Given the description of an element on the screen output the (x, y) to click on. 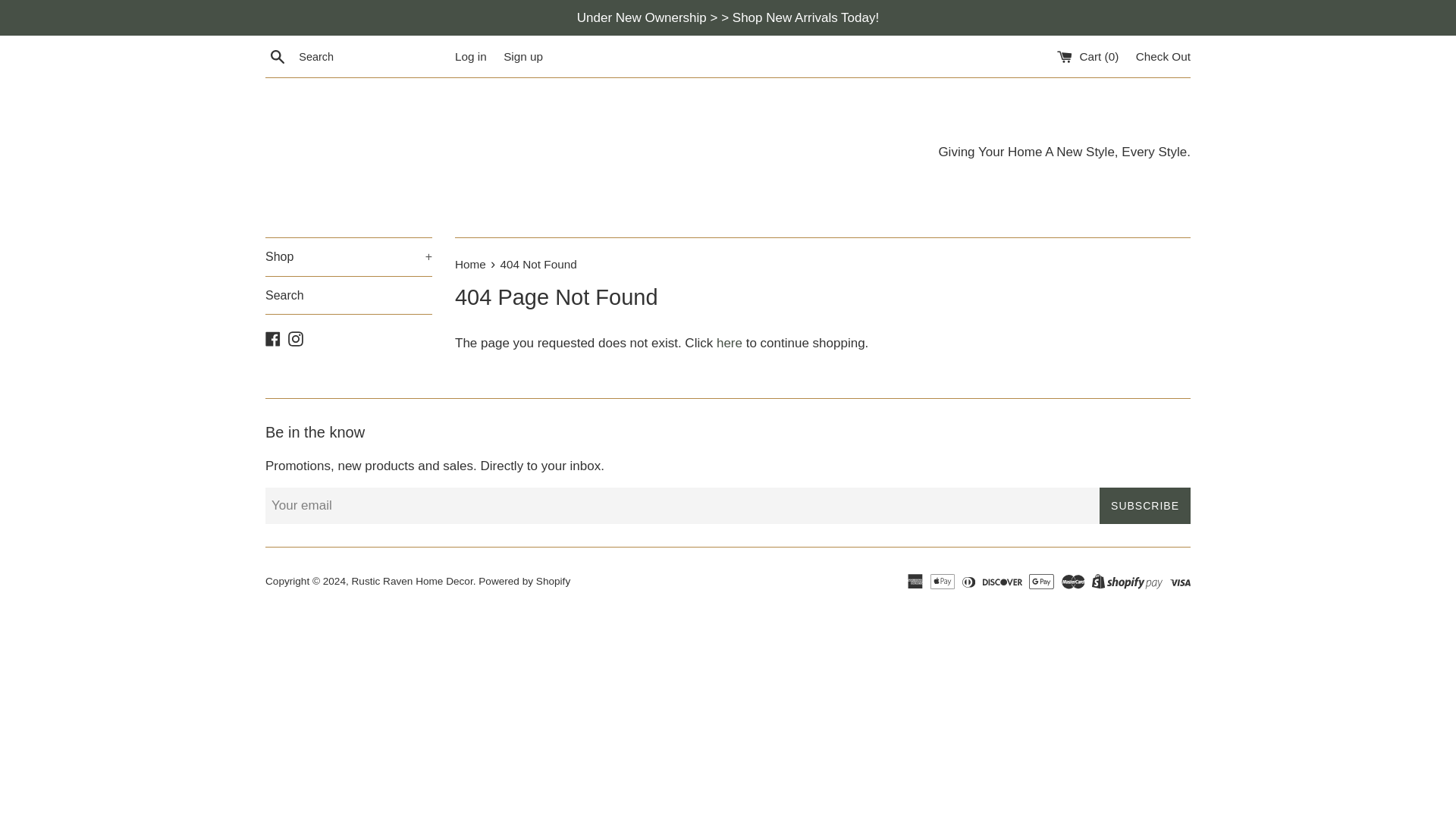
Back to the frontpage (471, 264)
Check Out (1163, 56)
Search (276, 56)
Sign up (523, 56)
Rustic Raven Home Decor on Instagram (295, 337)
Rustic Raven Home Decor on Facebook (272, 337)
Log in (470, 56)
